Given the description of an element on the screen output the (x, y) to click on. 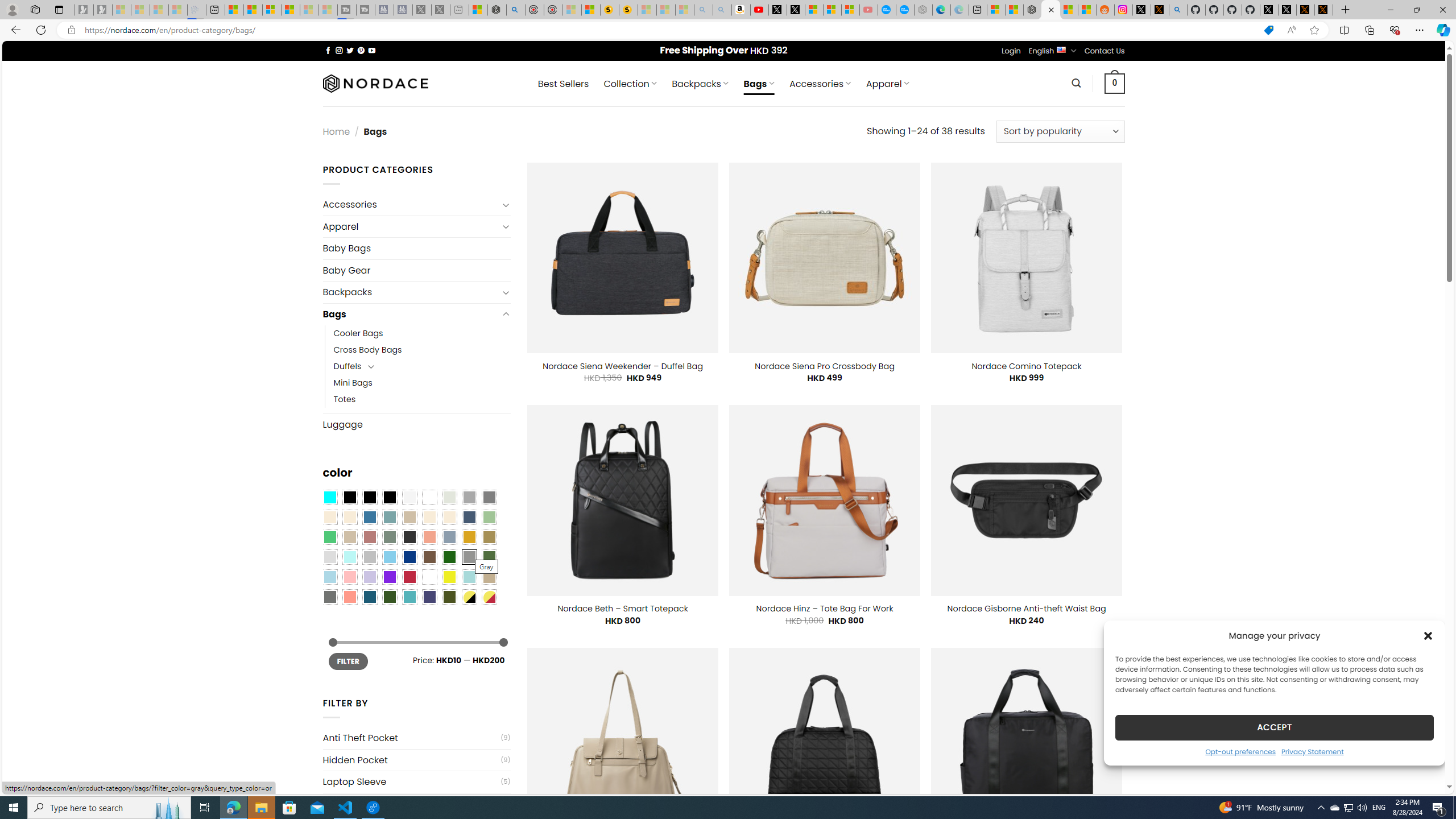
poe - Search (515, 9)
Profile / X (1268, 9)
Nordace Siena Pro Crossbody Bag (823, 365)
Rose (369, 536)
Beige-Brown (349, 517)
Black-Brown (389, 497)
Backpacks (410, 292)
Charcoal (408, 536)
